Given the description of an element on the screen output the (x, y) to click on. 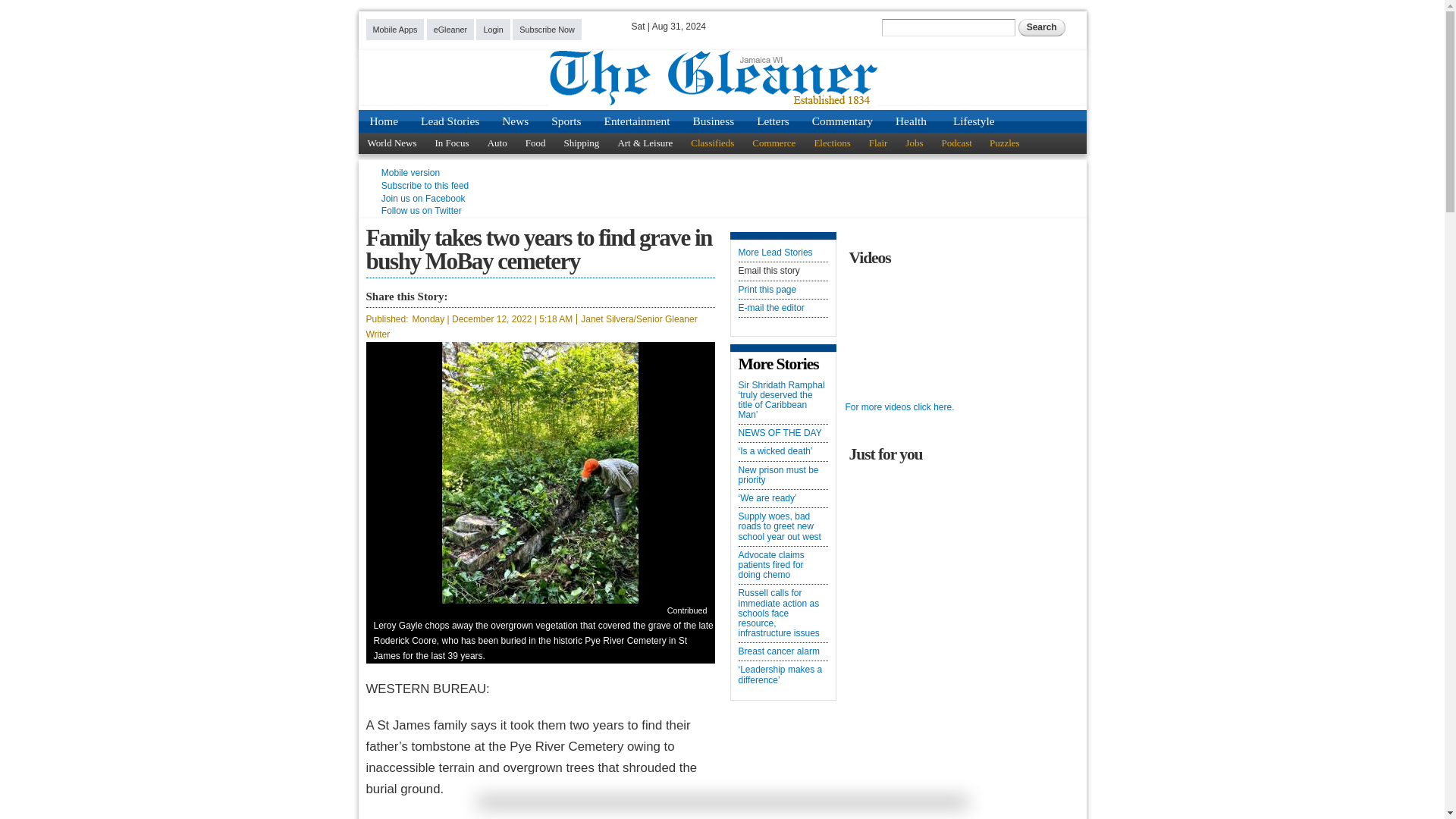
Join us on Facebook (423, 198)
Commerce (773, 142)
Skip to main content (697, 8)
Login (492, 29)
Sports (566, 120)
Health (910, 120)
eGleaner (450, 29)
Flair (878, 142)
Elections (832, 142)
Jobs (913, 142)
